Given the description of an element on the screen output the (x, y) to click on. 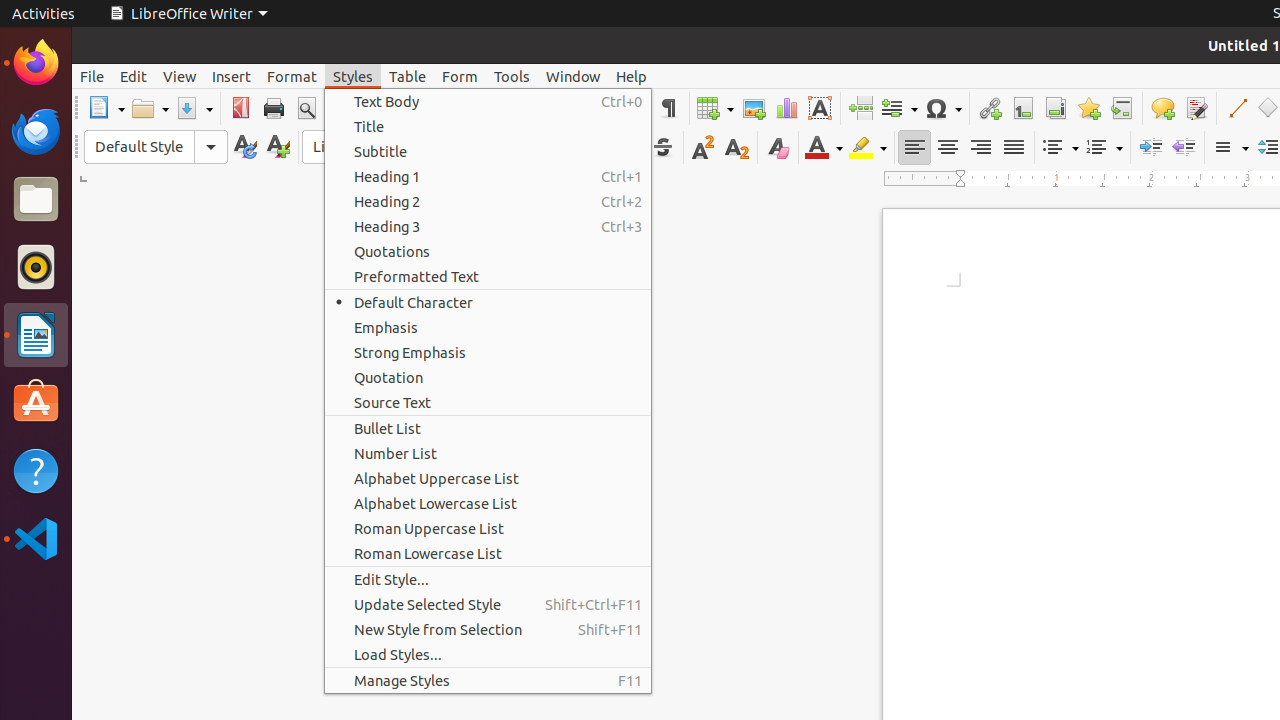
Numbering Element type: push-button (1104, 147)
LibreOffice Writer Element type: menu (188, 13)
Bullets Element type: push-button (1060, 147)
Bullet List Element type: radio-menu-item (488, 428)
Help Element type: push-button (36, 470)
